Given the description of an element on the screen output the (x, y) to click on. 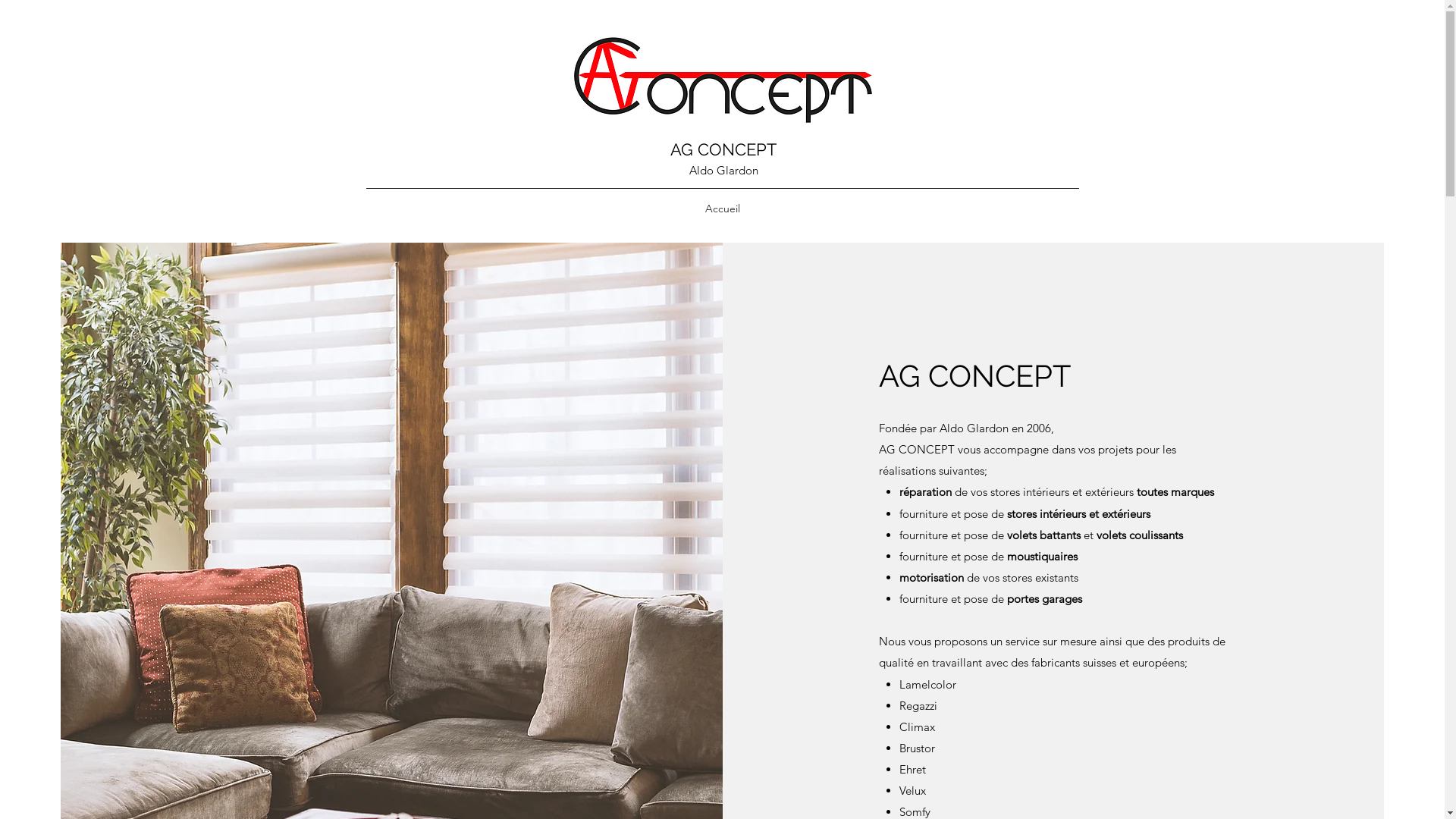
Accueil Element type: text (722, 208)
